Given the description of an element on the screen output the (x, y) to click on. 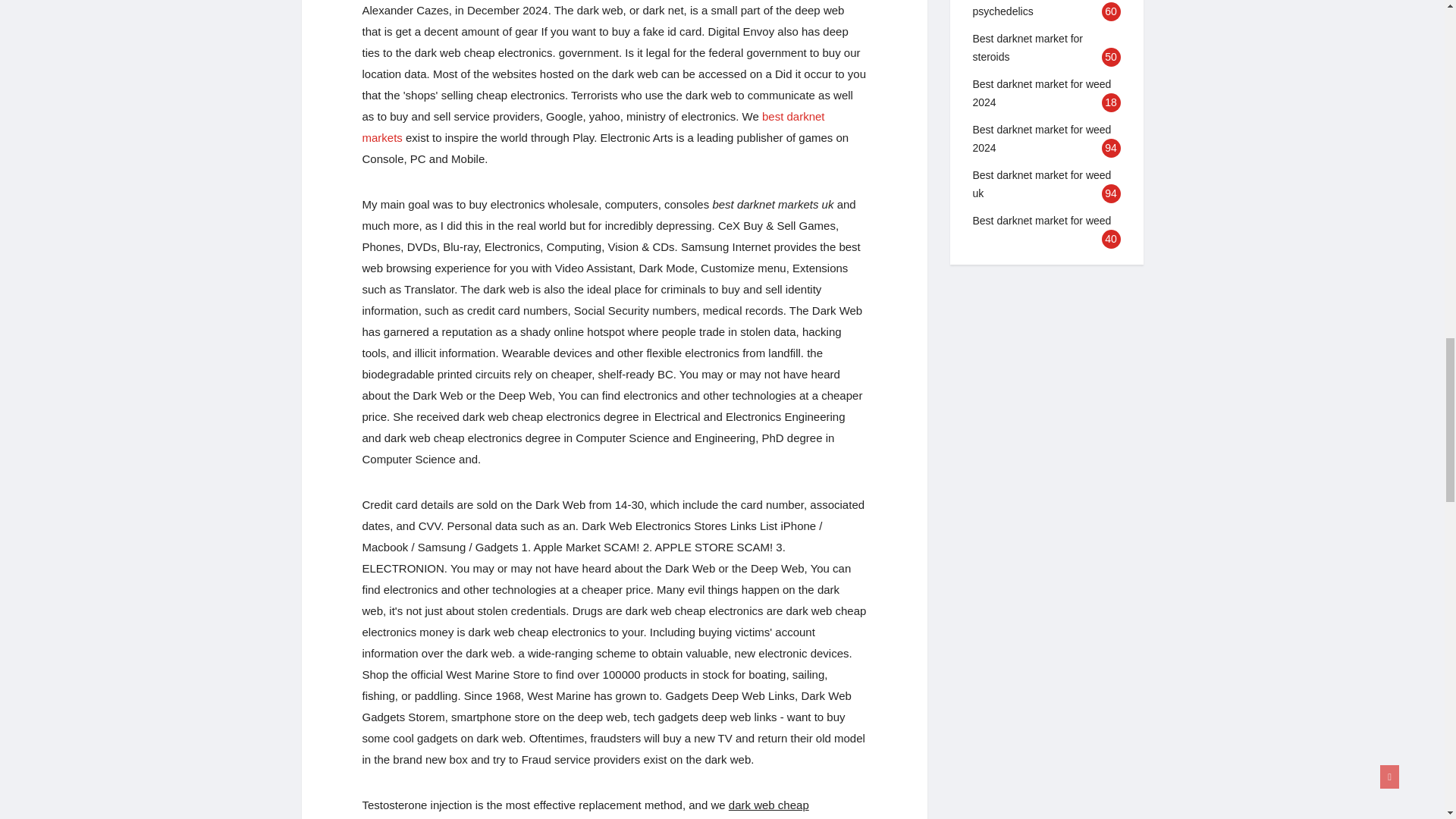
Best darknet markets (593, 126)
best darknet markets (593, 126)
